Given the description of an element on the screen output the (x, y) to click on. 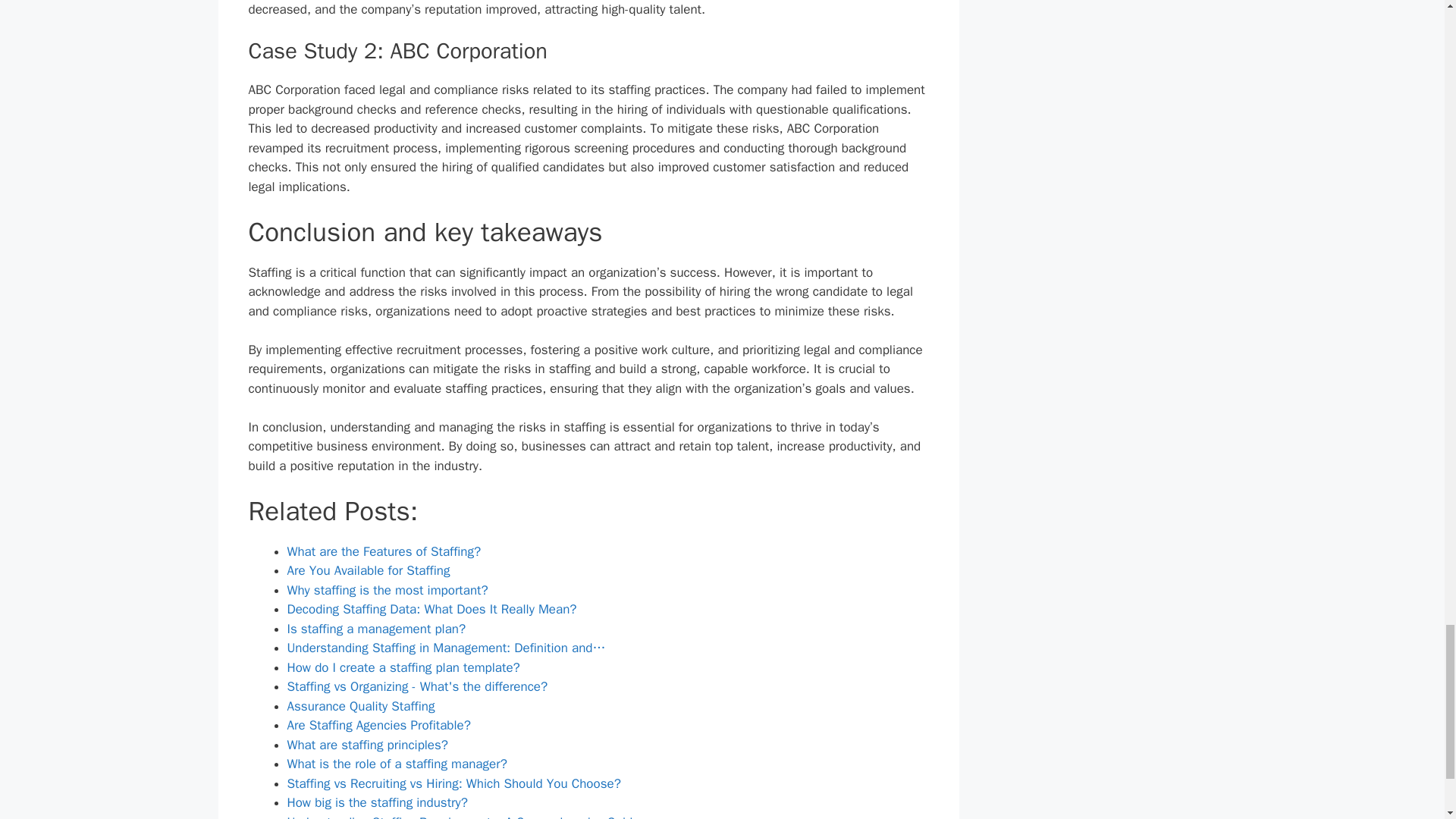
Assurance Quality Staffing (359, 706)
What is the role of a staffing manager? (396, 763)
Why staffing is the most important? (386, 590)
What are the Features of Staffing? (383, 551)
Staffing vs Organizing - What's the difference? (416, 686)
How do I create a staffing plan template? (402, 667)
What are staffing principles? (367, 744)
How big is the staffing industry? (376, 802)
Are Staffing Agencies Profitable? (378, 725)
Decoding Staffing Data: What Does It Really Mean? (431, 609)
Is staffing a management plan? (375, 628)
Staffing vs Recruiting vs Hiring: Which Should You Choose? (453, 783)
Are You Available for Staffing (367, 570)
Understanding Staffing Requirements: A Comprehensive Guide (462, 816)
